Given the description of an element on the screen output the (x, y) to click on. 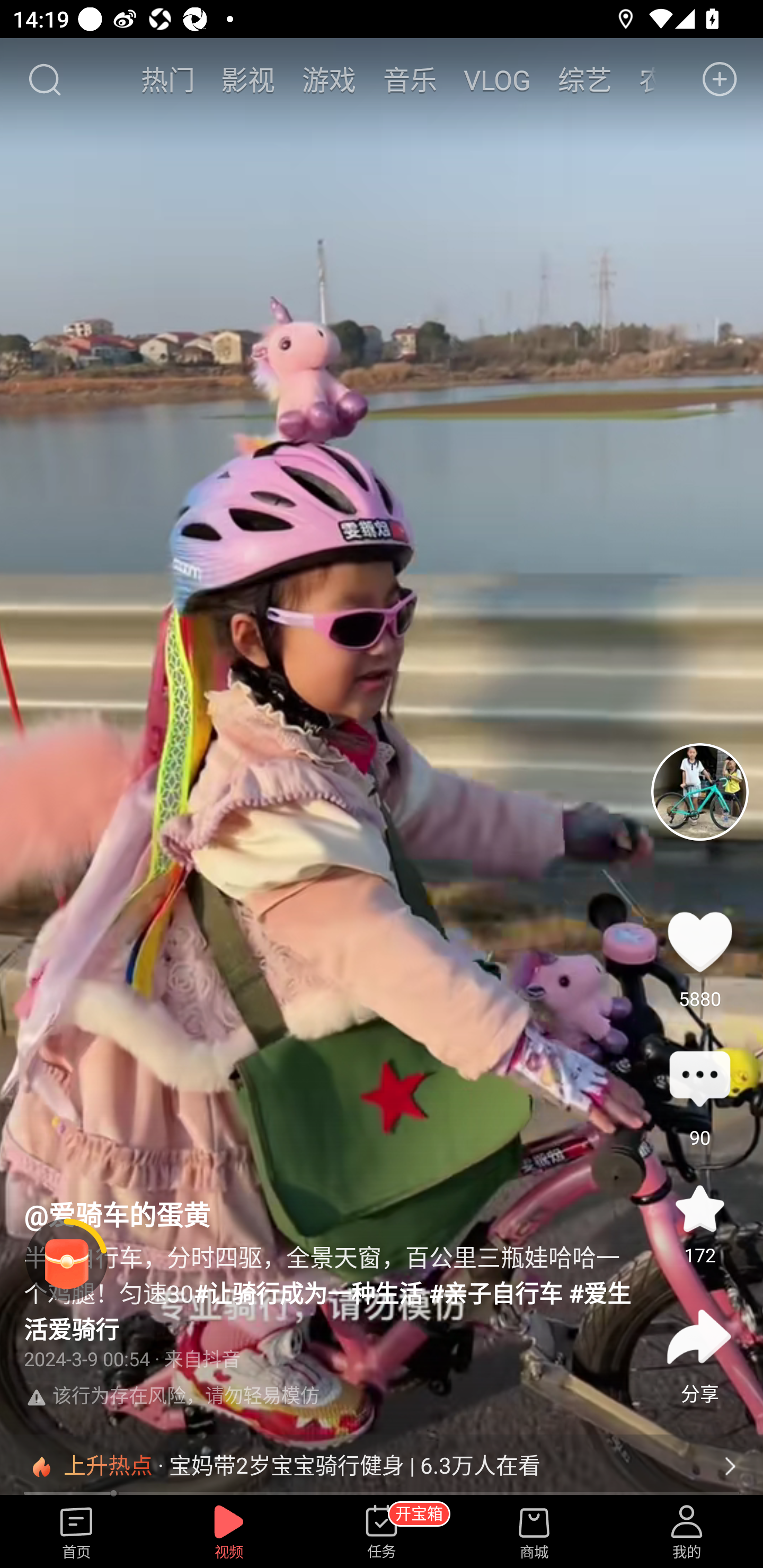
热门 (167, 79)
影视 (247, 79)
游戏 (329, 79)
音乐 (410, 79)
VLOG (497, 79)
综艺 (584, 79)
搜索 (44, 79)
发布 (720, 79)
头像 (699, 791)
点赞5880 5880 (699, 941)
评论90 评论 90 (699, 1080)
收藏 172 (699, 1207)
@爱骑车的蛋黄 (116, 1214)
阅读赚金币 (66, 1259)
分享 (699, 1336)
上升热点  · 宝妈带2岁宝宝骑行健身  | 6.3万人在看 (381, 1465)
首页 (76, 1532)
视频 (228, 1532)
任务 开宝箱 (381, 1532)
商城 (533, 1532)
我的 (686, 1532)
